Given the description of an element on the screen output the (x, y) to click on. 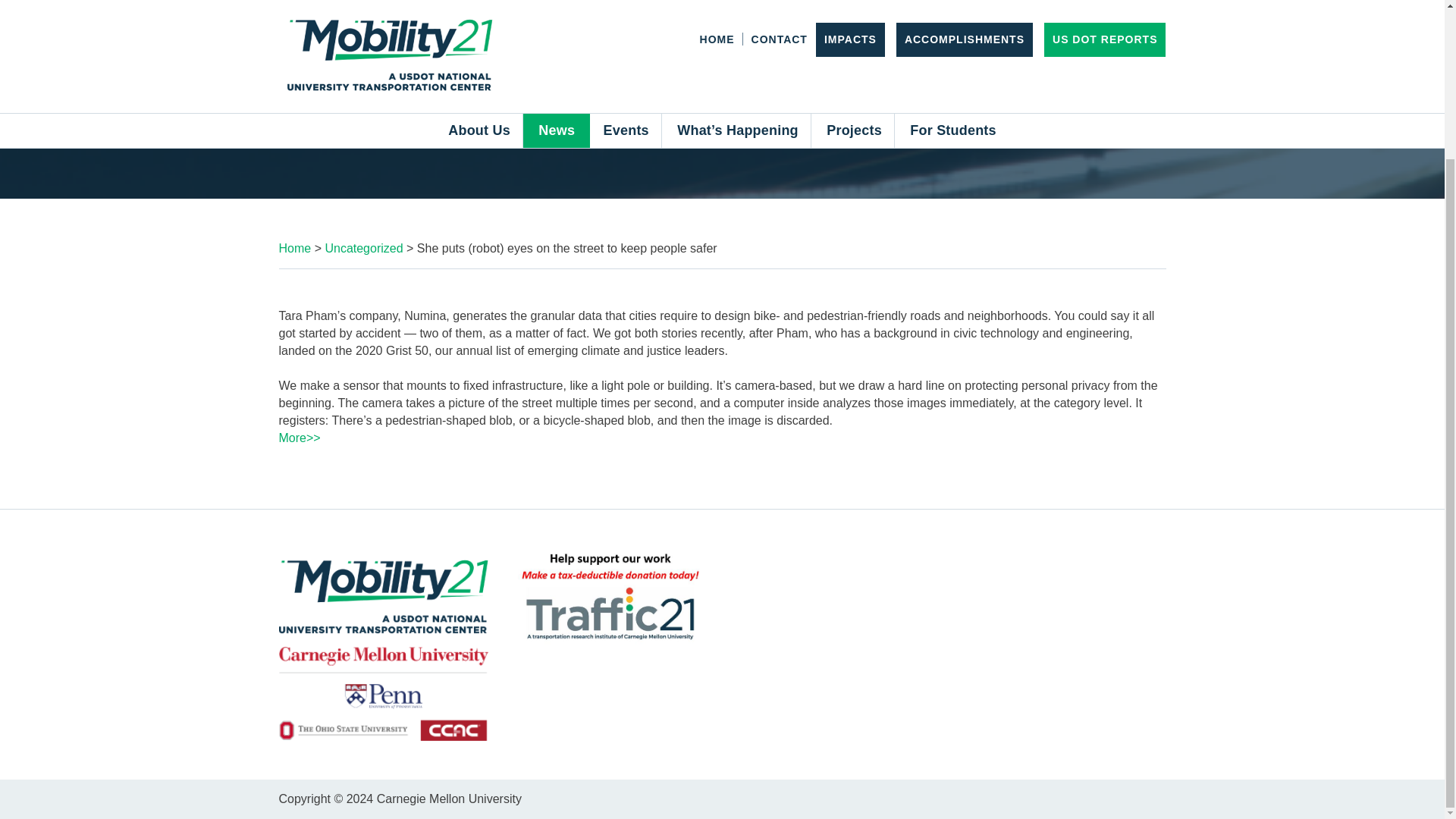
Go to M21. (295, 247)
Go to the Uncategorized category archives. (363, 247)
